Given the description of an element on the screen output the (x, y) to click on. 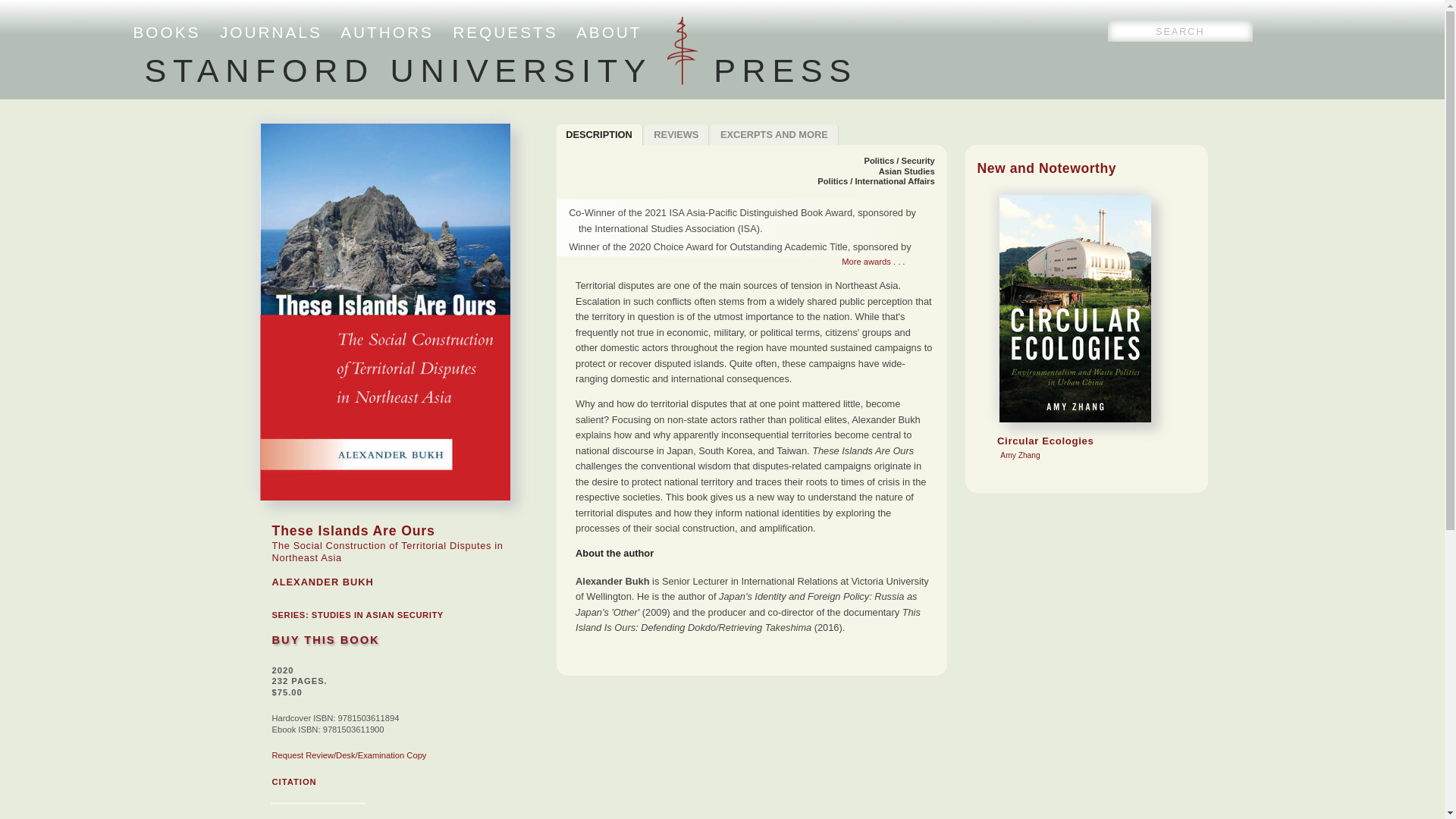
REVIEWS (677, 134)
Asian Studies (906, 171)
ABOUT (609, 31)
More awards . . . (751, 261)
CITATION (292, 781)
AUTHORS (386, 31)
STANFORD UNIVERSITY PRESS (500, 70)
BOOKS (166, 31)
STUDIES IN ASIAN SECURITY (377, 614)
REQUESTS (504, 31)
BUY THIS BOOK (324, 639)
DESCRIPTION (599, 134)
JOURNALS (774, 134)
